Given the description of an element on the screen output the (x, y) to click on. 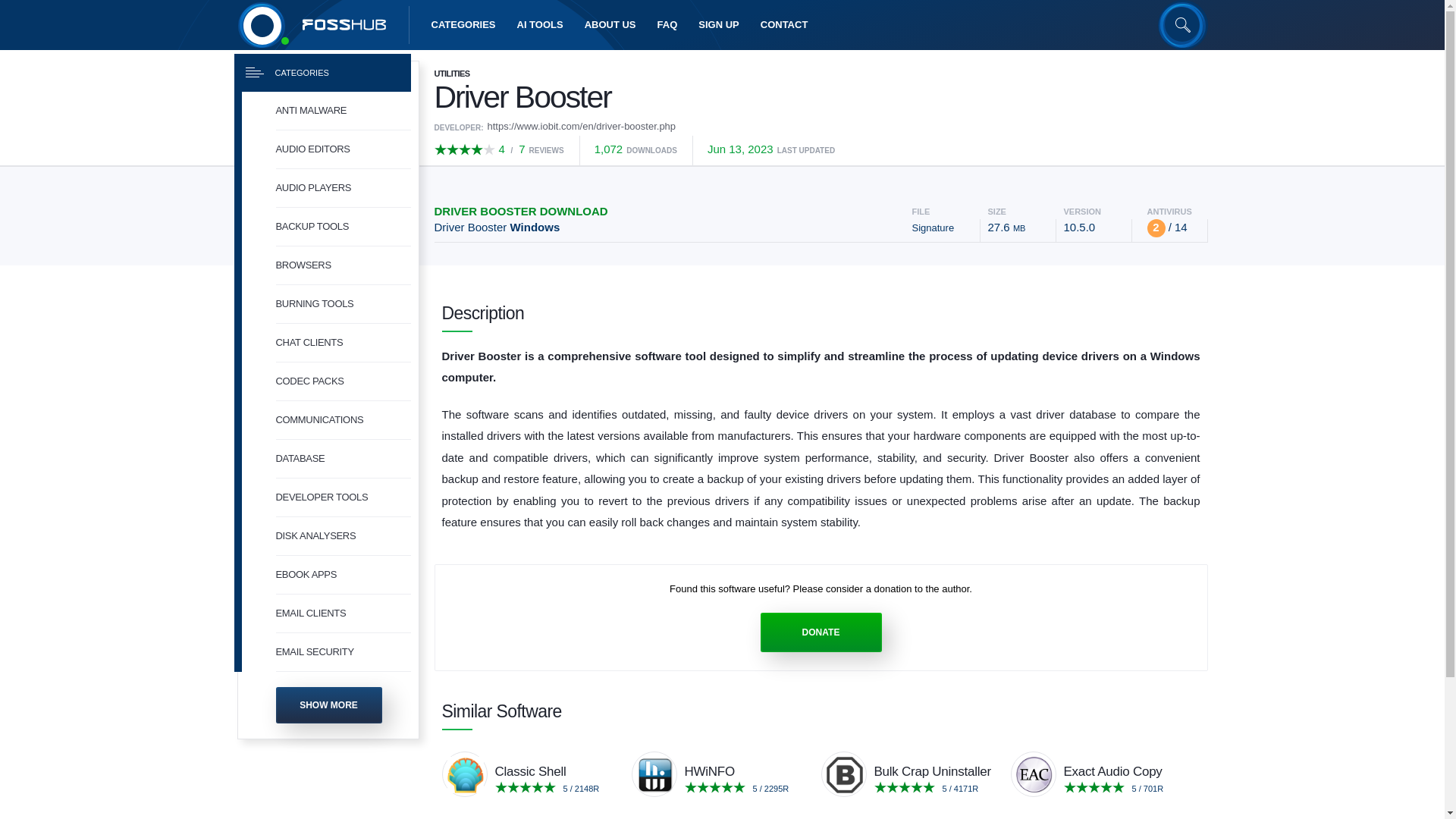
EBOOK APPS (343, 575)
EMAIL CLIENTS (343, 613)
COMMUNICATIONS (343, 420)
ANTI MALWARE (343, 110)
BROWSERS (343, 265)
BURNING TOOLS (343, 304)
CODEC PACKS (343, 381)
DATABASE (343, 458)
BACKUP TOOLS (343, 227)
AUDIO PLAYERS (343, 188)
